Given the description of an element on the screen output the (x, y) to click on. 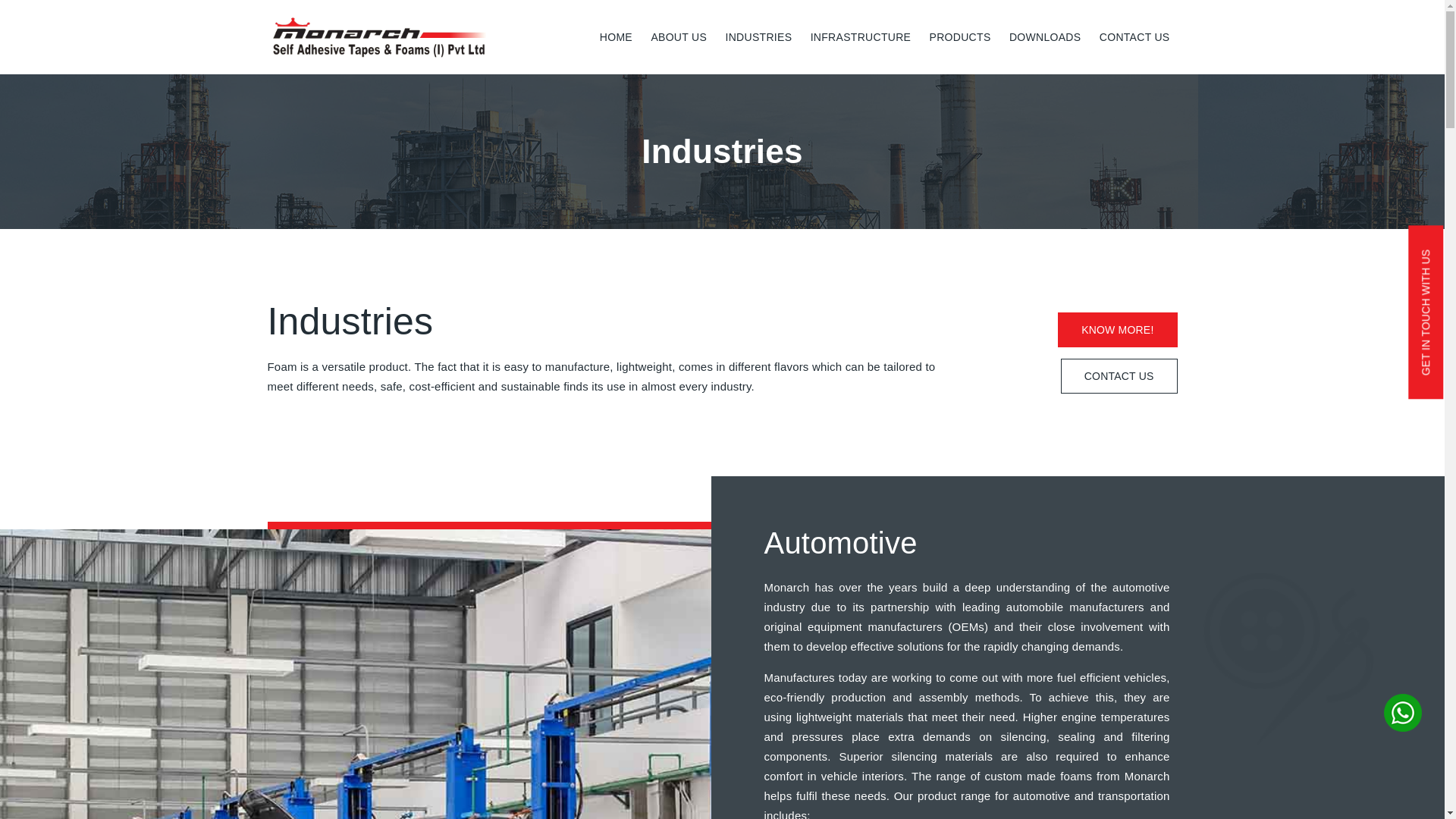
CONTACT US (1119, 375)
CONTACT US (1134, 37)
Monarch (379, 36)
DOWNLOADS (1045, 37)
INDUSTRIES (758, 37)
ABOUT US (678, 37)
KNOW MORE! (1117, 329)
INFRASTRUCTURE (860, 37)
PRODUCTS (959, 37)
